Given the description of an element on the screen output the (x, y) to click on. 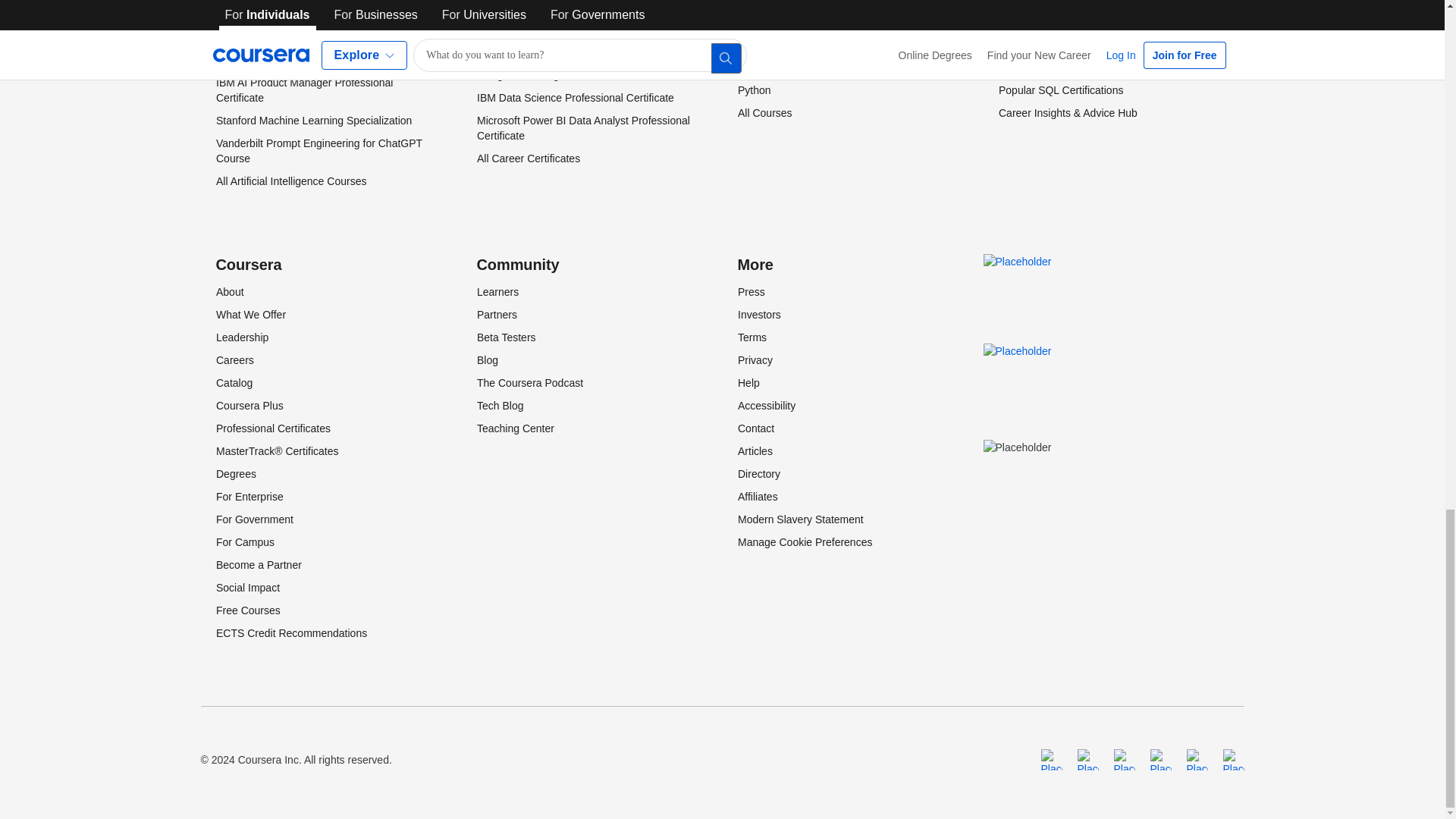
Google AI Essentials (264, 21)
Stanford Machine Learning Specialization (312, 120)
Google Cloud Introduction to Generative AI Course (316, 52)
Vanderbilt Prompt Engineering for ChatGPT Course (318, 150)
IBM AI Product Manager Professional Certificate (303, 90)
DLAI GenAI with LLMs Course (287, 2)
All Artificial Intelligence Courses (290, 181)
